Given the description of an element on the screen output the (x, y) to click on. 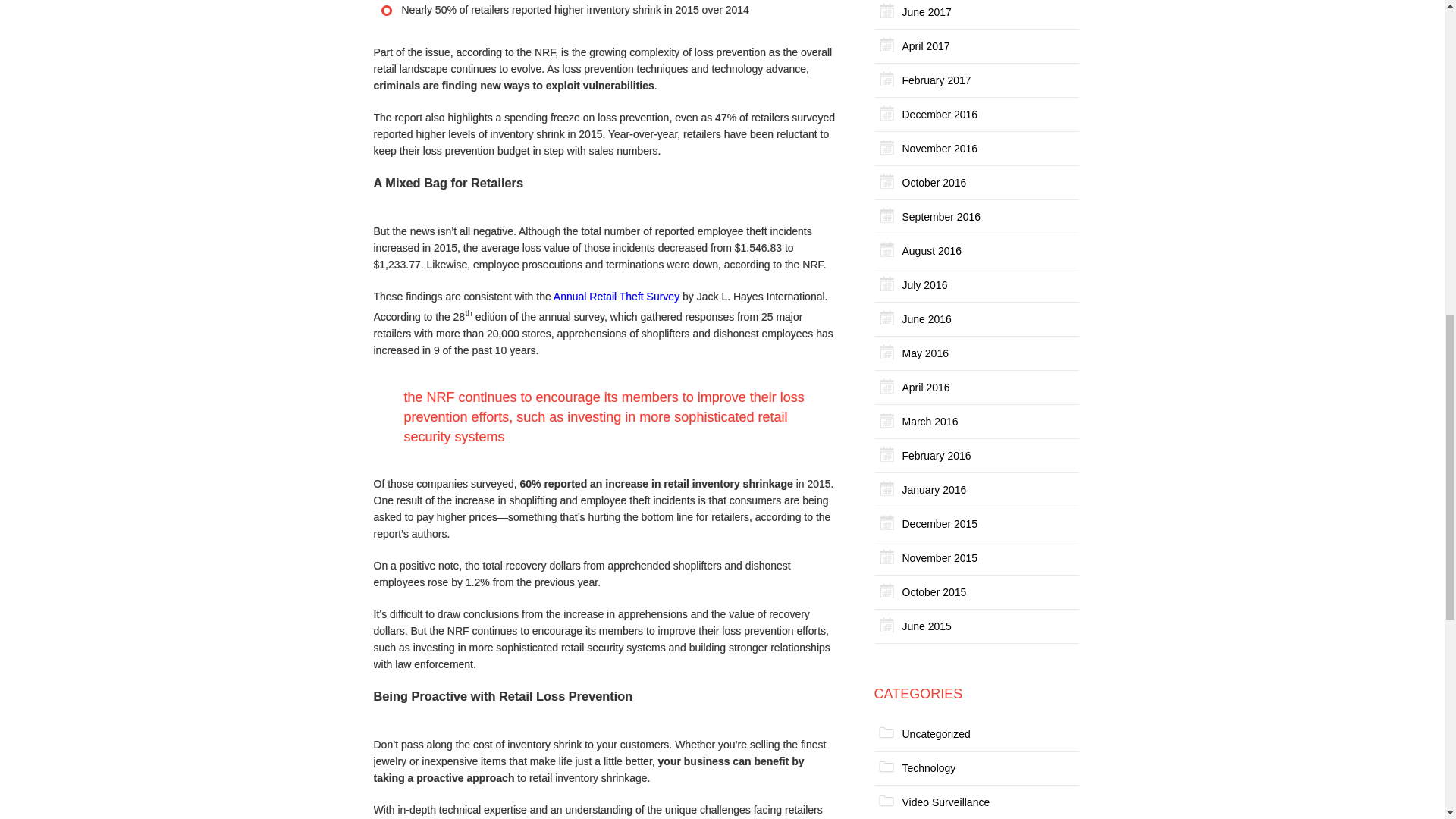
Annual Retail Theft Survey (616, 296)
